Given the description of an element on the screen output the (x, y) to click on. 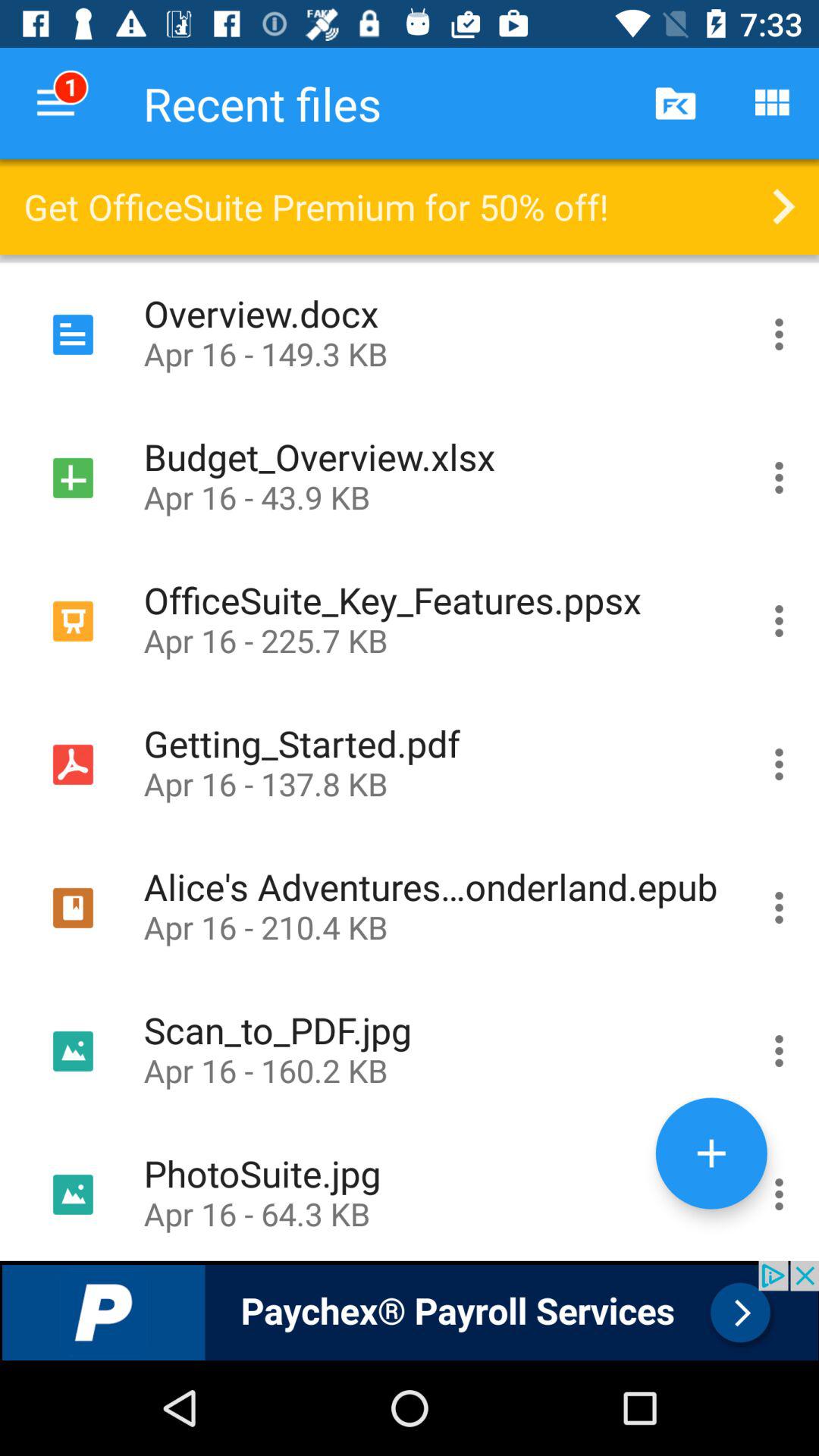
open options (779, 1191)
